Given the description of an element on the screen output the (x, y) to click on. 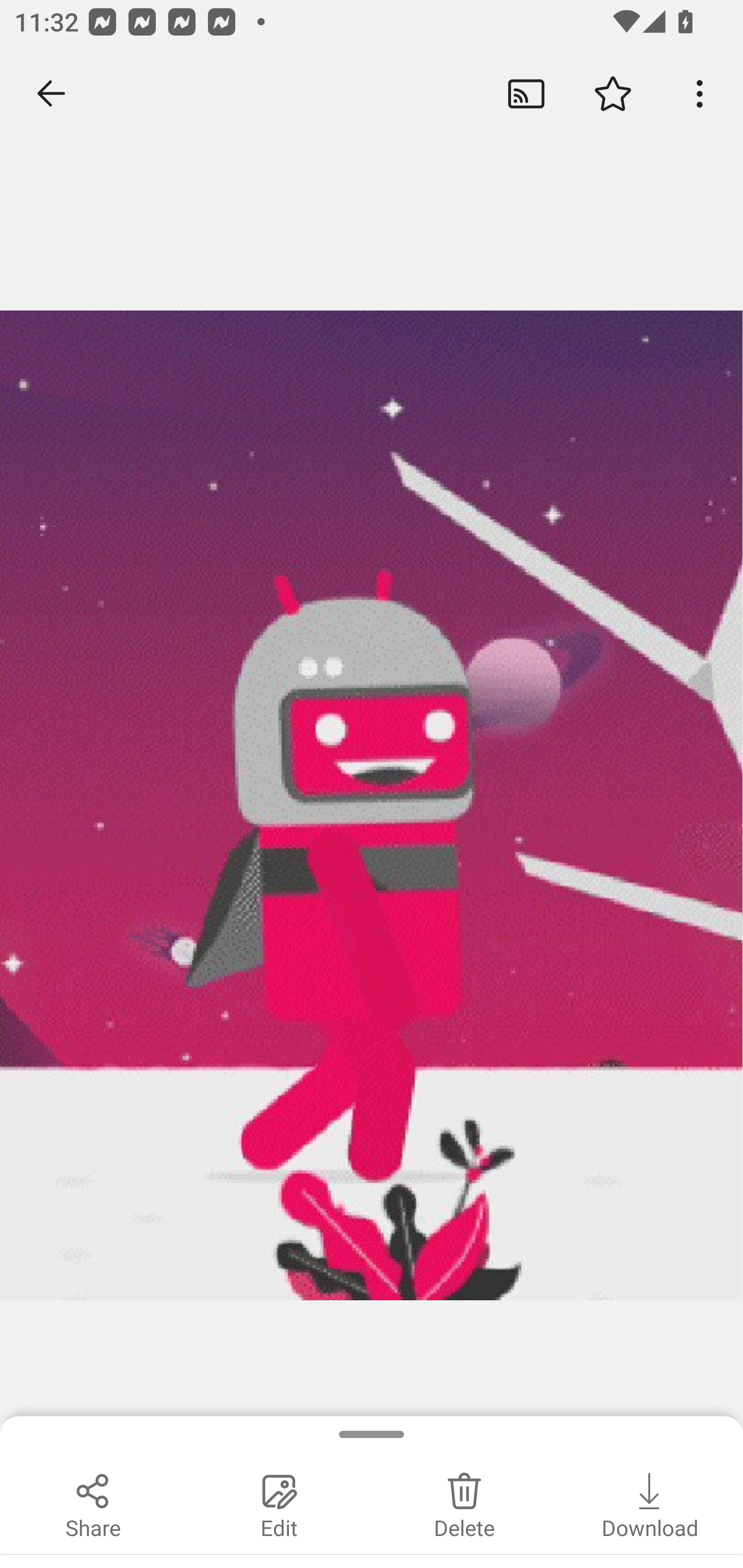
Navigate up (50, 93)
Cast. Disconnected (525, 93)
Add to Favorites button (612, 93)
button (699, 93)
Share (92, 1502)
Edit (278, 1502)
Delete (464, 1502)
Download (650, 1502)
